Given the description of an element on the screen output the (x, y) to click on. 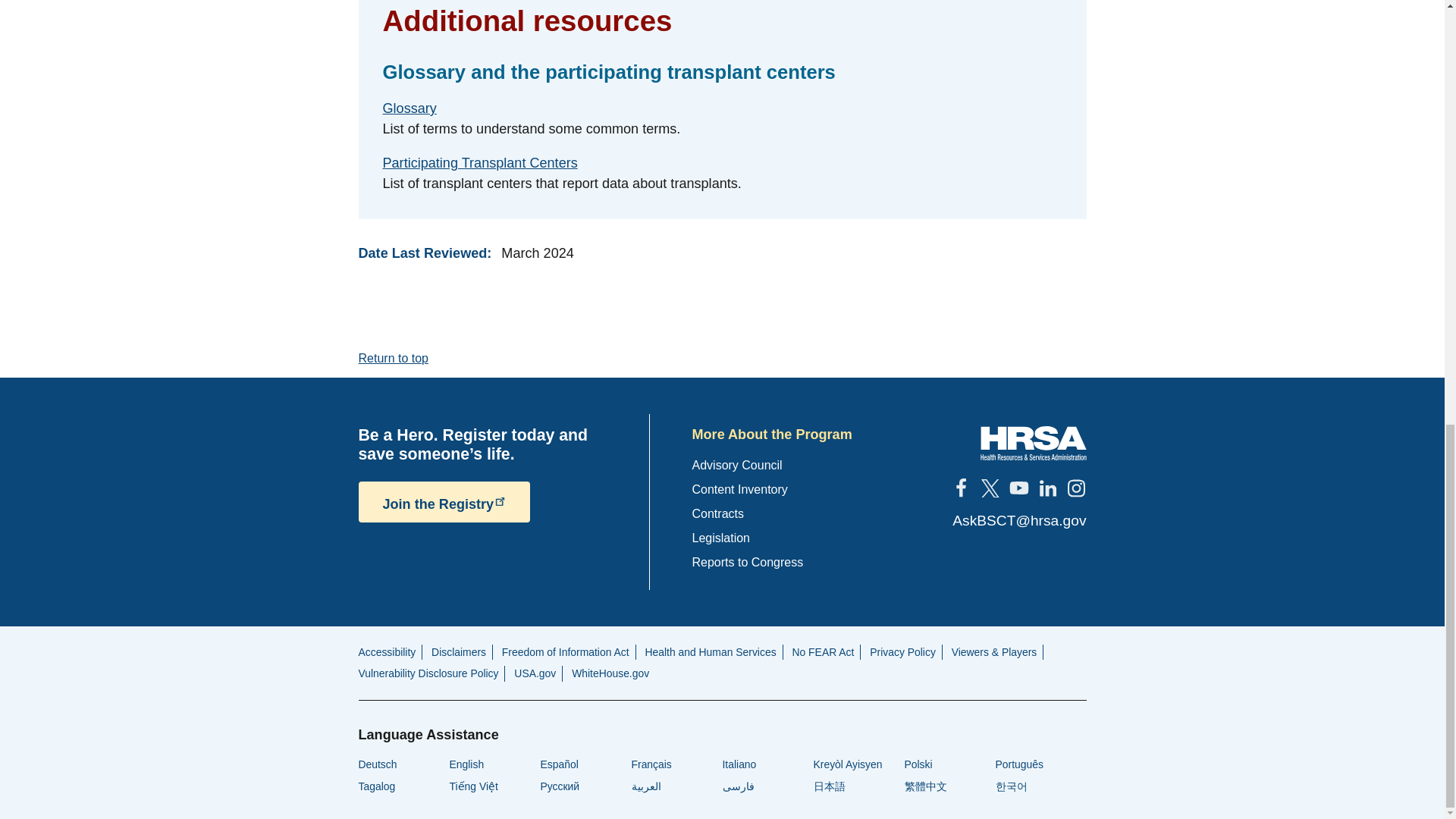
Reports to Congress (747, 562)
Facebook (960, 487)
Instagram (1075, 487)
Portuguese (1018, 764)
Italian (738, 764)
Russian (559, 786)
Contracts (716, 513)
Understand which contracts CWBYCTP operate through  (716, 513)
Arabic (645, 786)
X (988, 487)
